Given the description of an element on the screen output the (x, y) to click on. 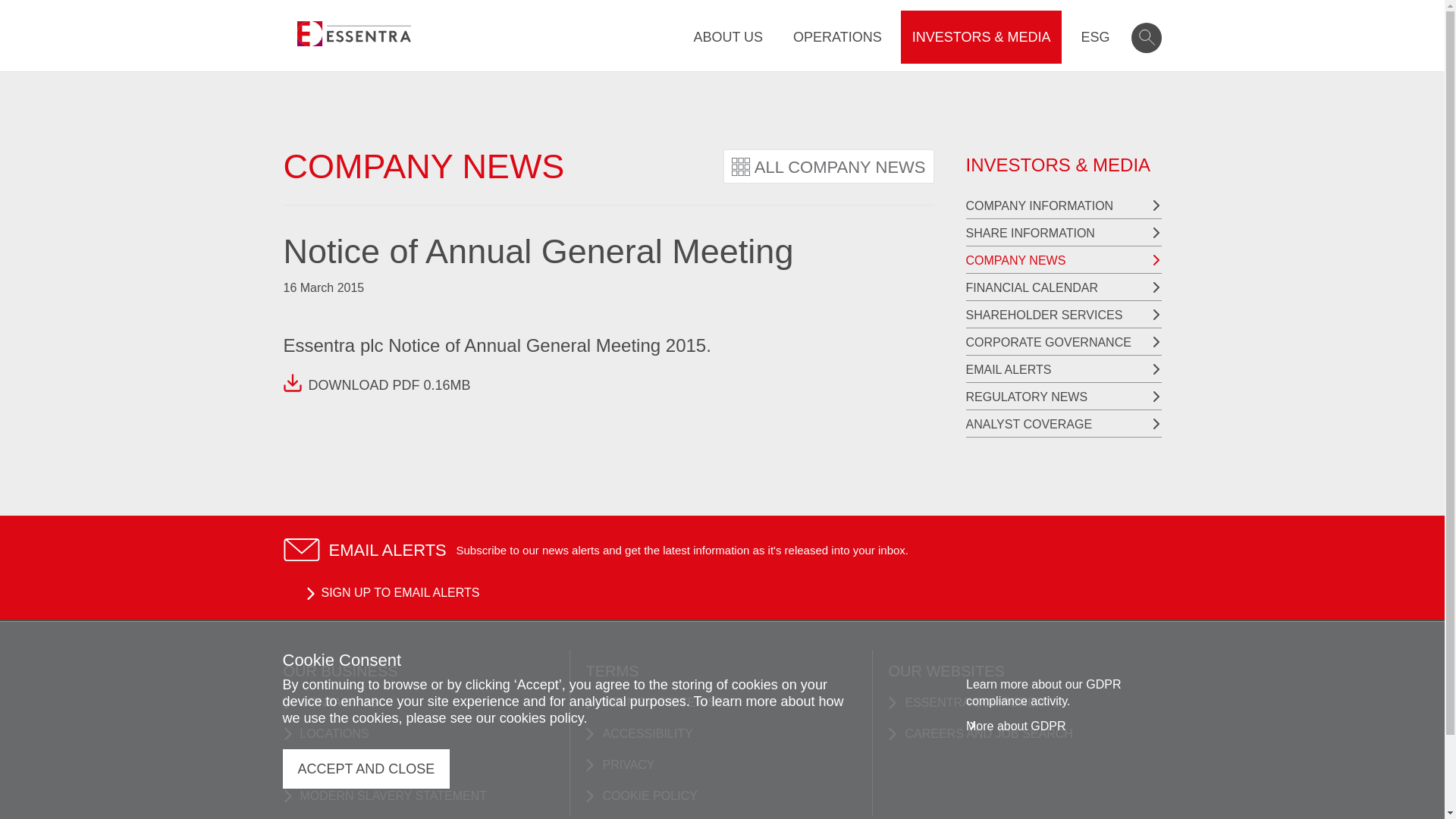
cookies policy. (543, 717)
OPERATIONS (837, 36)
More about GDPR (1015, 726)
ESG (1094, 36)
ACCEPT AND CLOSE (365, 768)
SEARCH (1146, 37)
ABOUT US (727, 36)
